Given the description of an element on the screen output the (x, y) to click on. 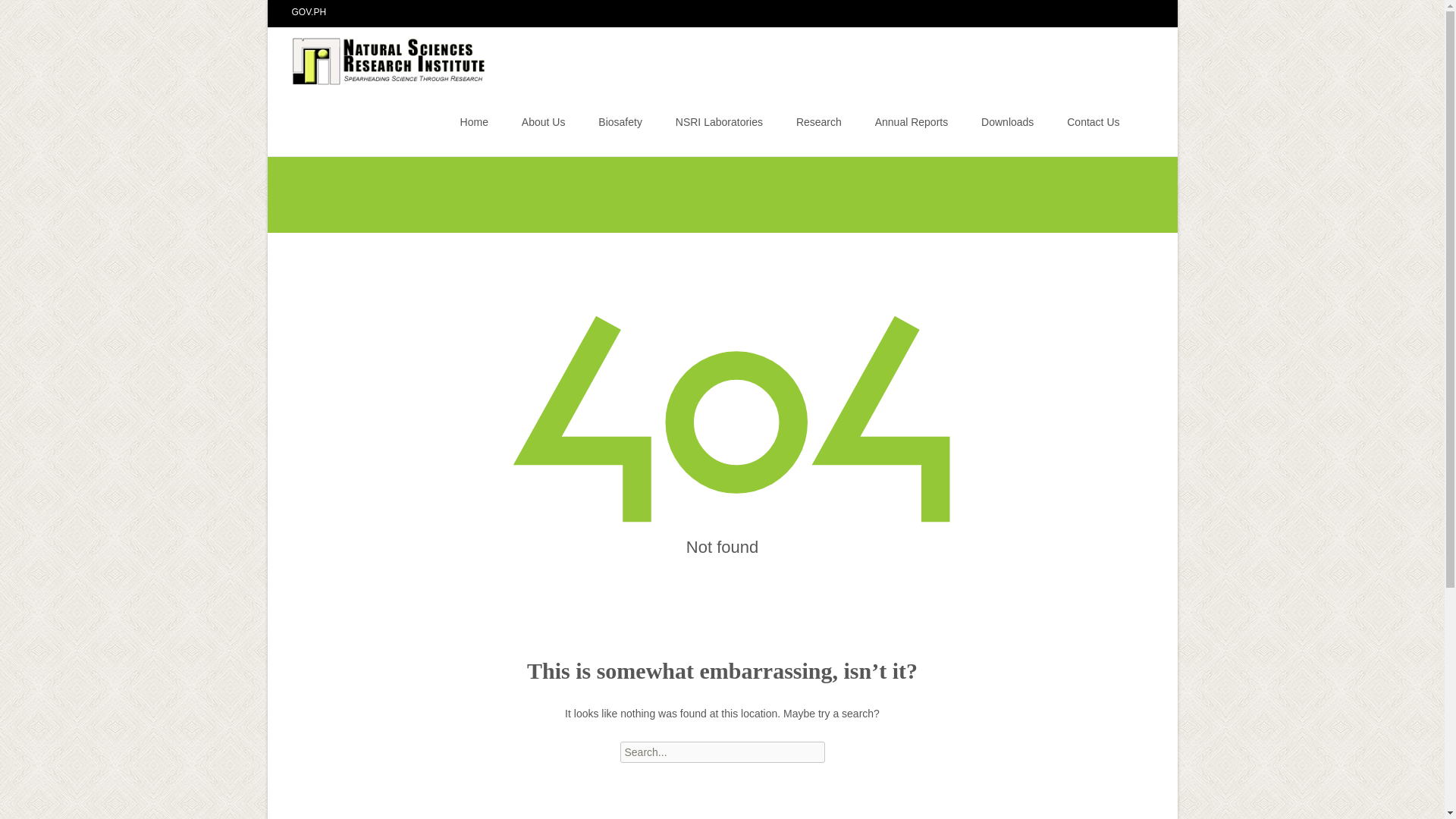
Natural Sciences Research Institute (378, 57)
GOV.PH (308, 11)
Search for: (722, 752)
Annual Reports (912, 121)
NSRI Laboratories (718, 121)
Search (18, 14)
Search (34, 14)
Search for: (1139, 123)
